Given the description of an element on the screen output the (x, y) to click on. 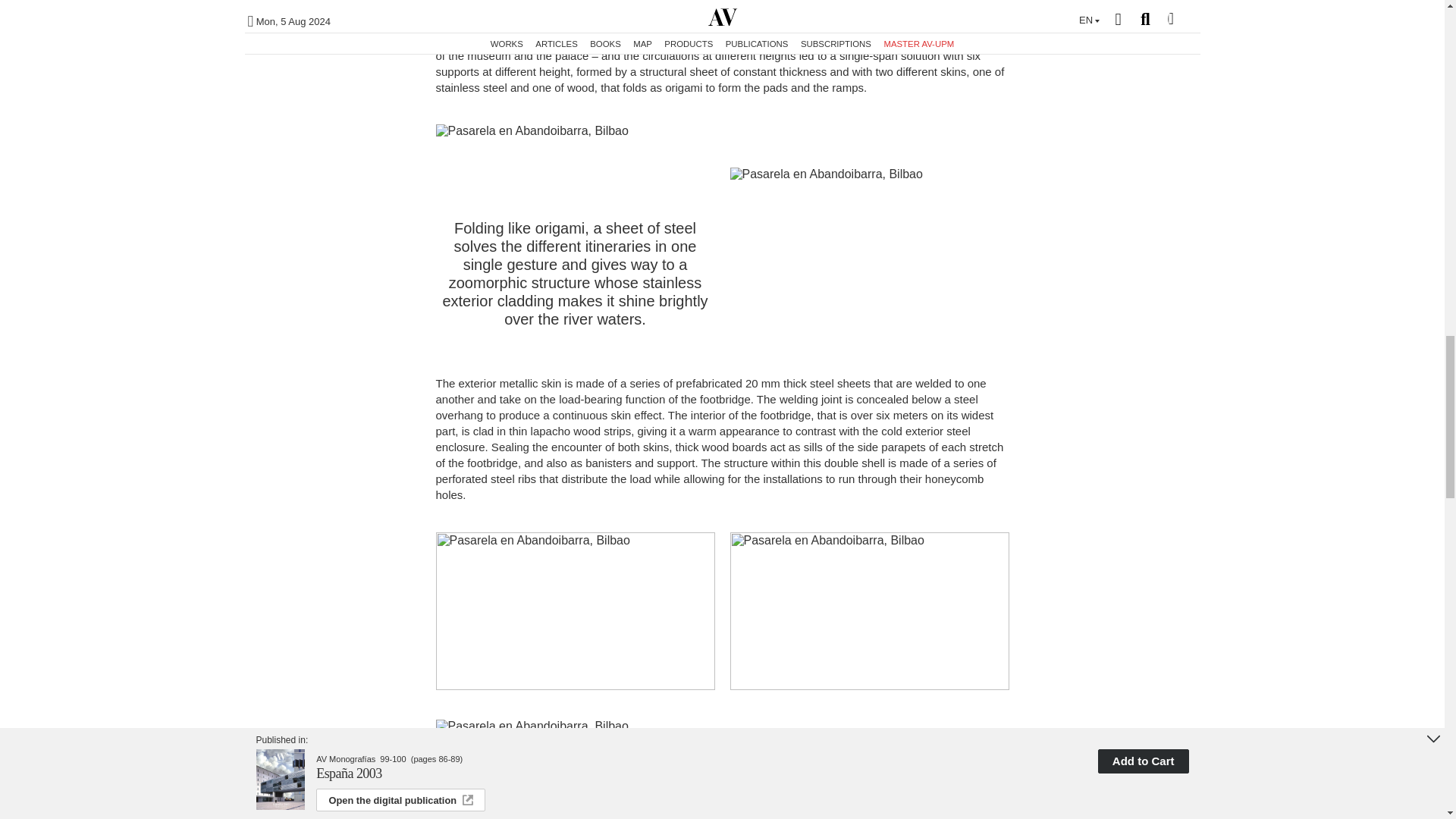
Pasarela en Abandoibarra, Bilbao (722, 131)
